Given the description of an element on the screen output the (x, y) to click on. 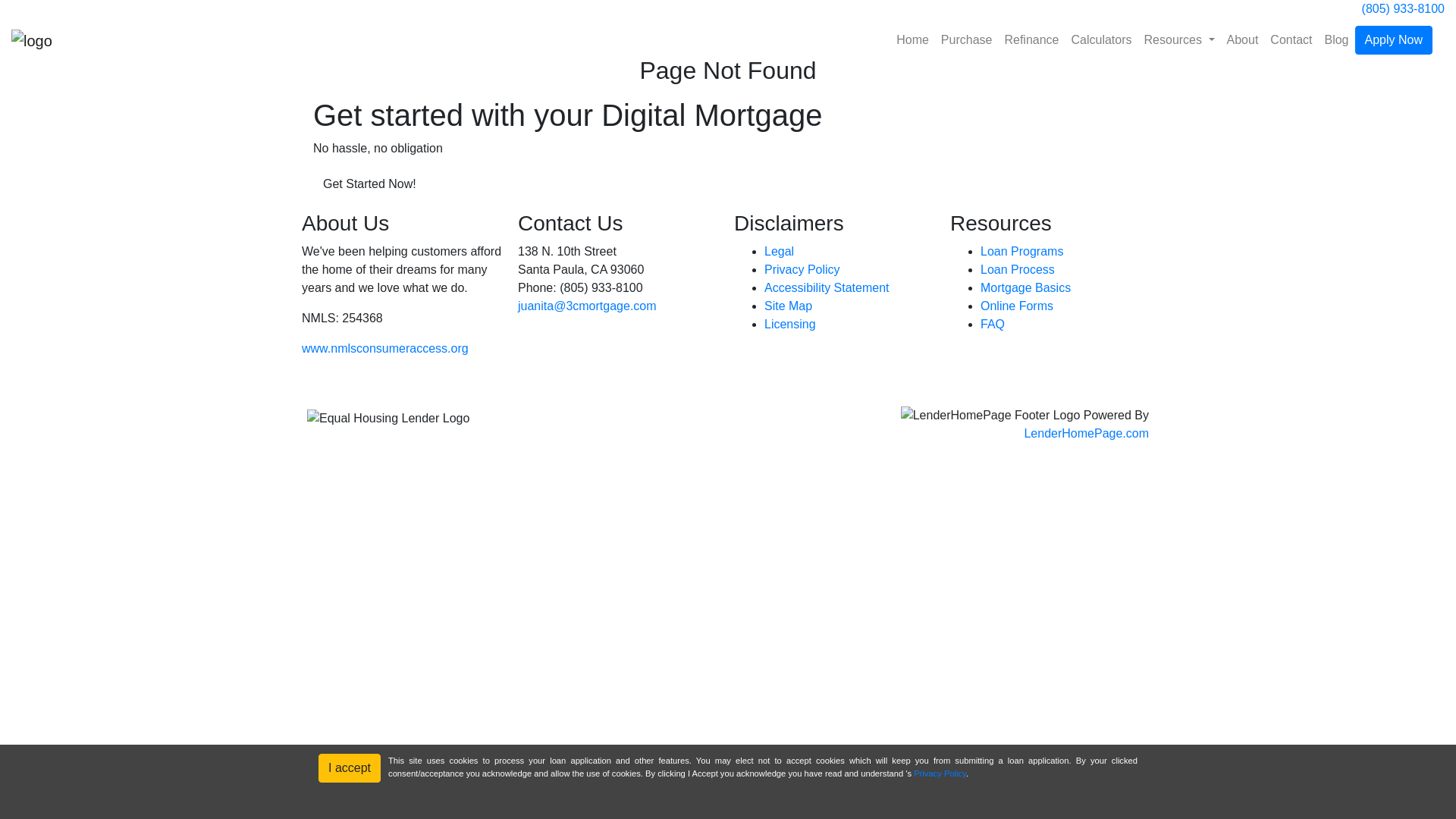
Licensing Element type: text (789, 323)
Refinance Element type: text (1030, 40)
www.nmlsconsumeraccess.org Element type: text (384, 348)
Purchase Element type: text (966, 40)
Apply Now Element type: text (1393, 39)
Resources Element type: text (1179, 40)
Home Element type: text (912, 40)
I accept Element type: text (349, 767)
Contact Element type: text (1290, 40)
(805) 933-8100 Element type: text (1402, 8)
Get Started Now! Element type: text (369, 183)
Loan Programs Element type: text (1021, 250)
About Element type: text (1242, 40)
Calculators Element type: text (1100, 40)
Mortgage Basics Element type: text (1025, 287)
Site Map Element type: text (788, 305)
Blog Element type: text (1335, 40)
Legal Element type: text (778, 250)
FAQ Element type: text (992, 323)
Accessibility Statement Element type: text (826, 287)
Online Forms Element type: text (1016, 305)
Privacy Policy Element type: text (802, 269)
Loan Process Element type: text (1017, 269)
juanita@3cmortgage.com Element type: text (586, 305)
LenderHomePage.com Element type: text (1085, 432)
Privacy Policy Element type: text (939, 773)
